Given the description of an element on the screen output the (x, y) to click on. 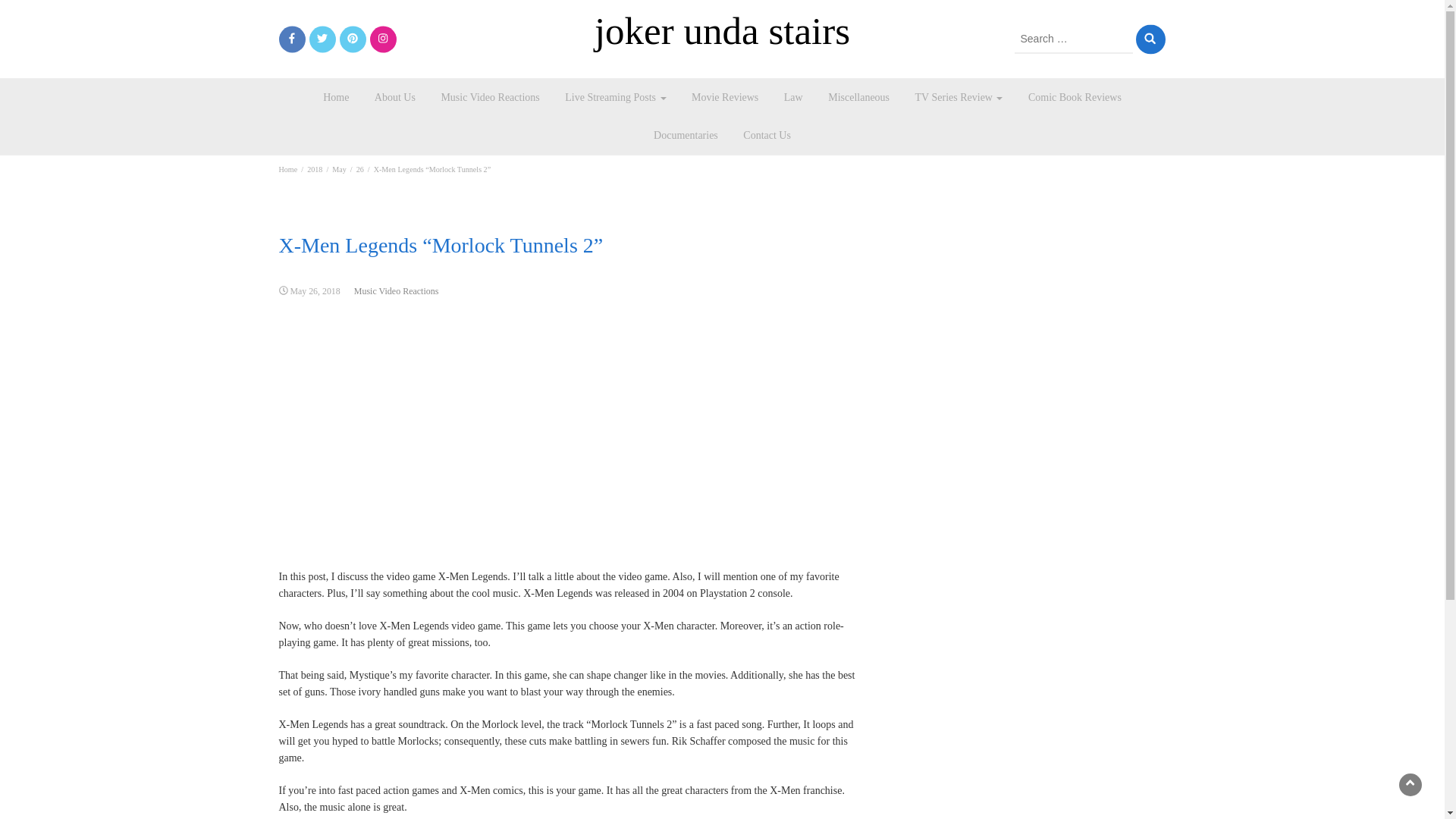
Movie Reviews (724, 97)
2018 (314, 169)
Search (1150, 39)
Search for: (1073, 38)
TV Series Review (959, 97)
Miscellaneous (858, 97)
Law (793, 97)
May 26, 2018 (314, 290)
TV Series Review (959, 97)
Music Video Reactions (489, 97)
Home (335, 97)
Search (1150, 39)
Music Video Reactions (396, 290)
joker unda stairs (722, 30)
Movie Reviews (724, 97)
